Given the description of an element on the screen output the (x, y) to click on. 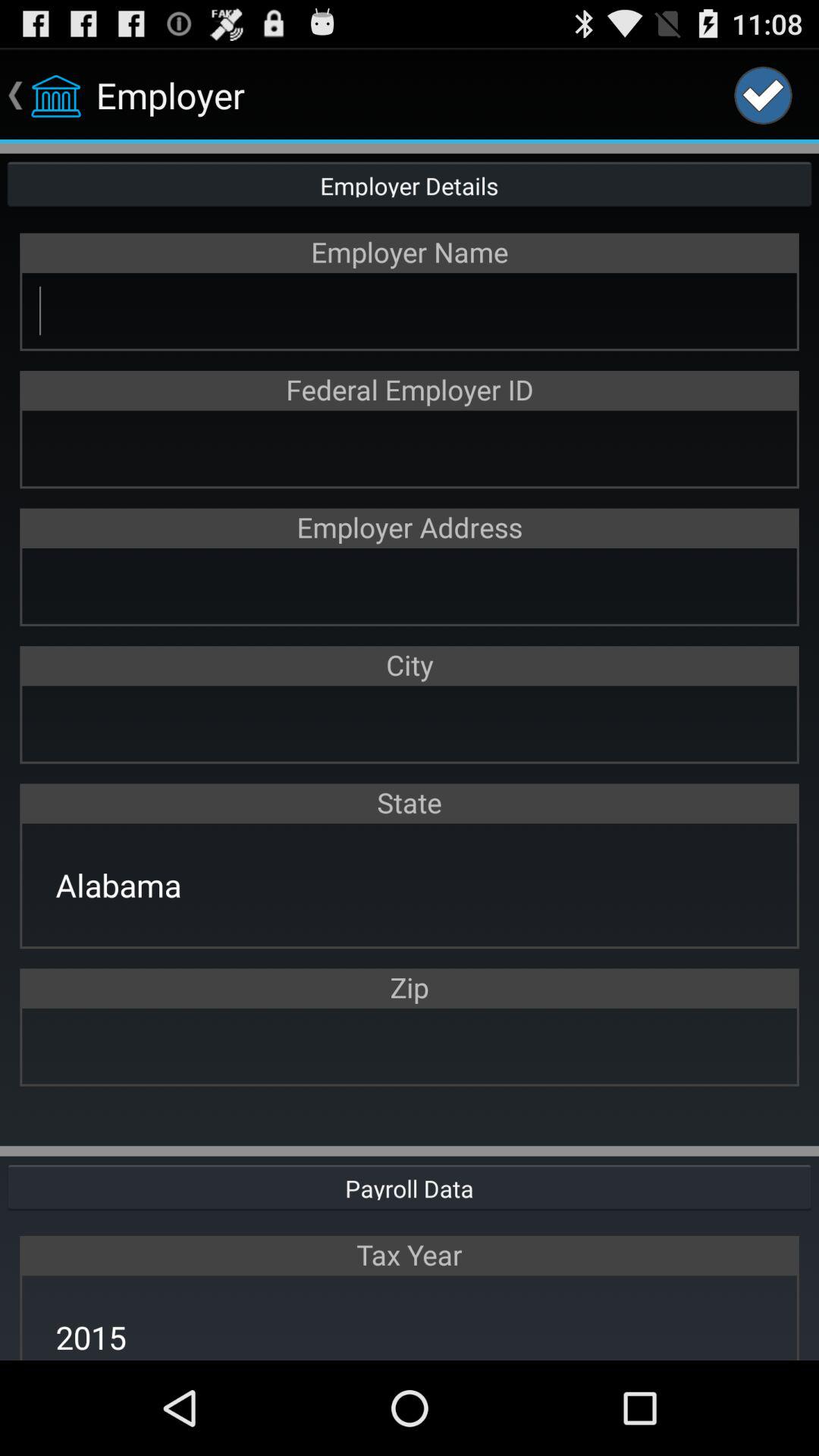
employer name textbox (409, 310)
